Given the description of an element on the screen output the (x, y) to click on. 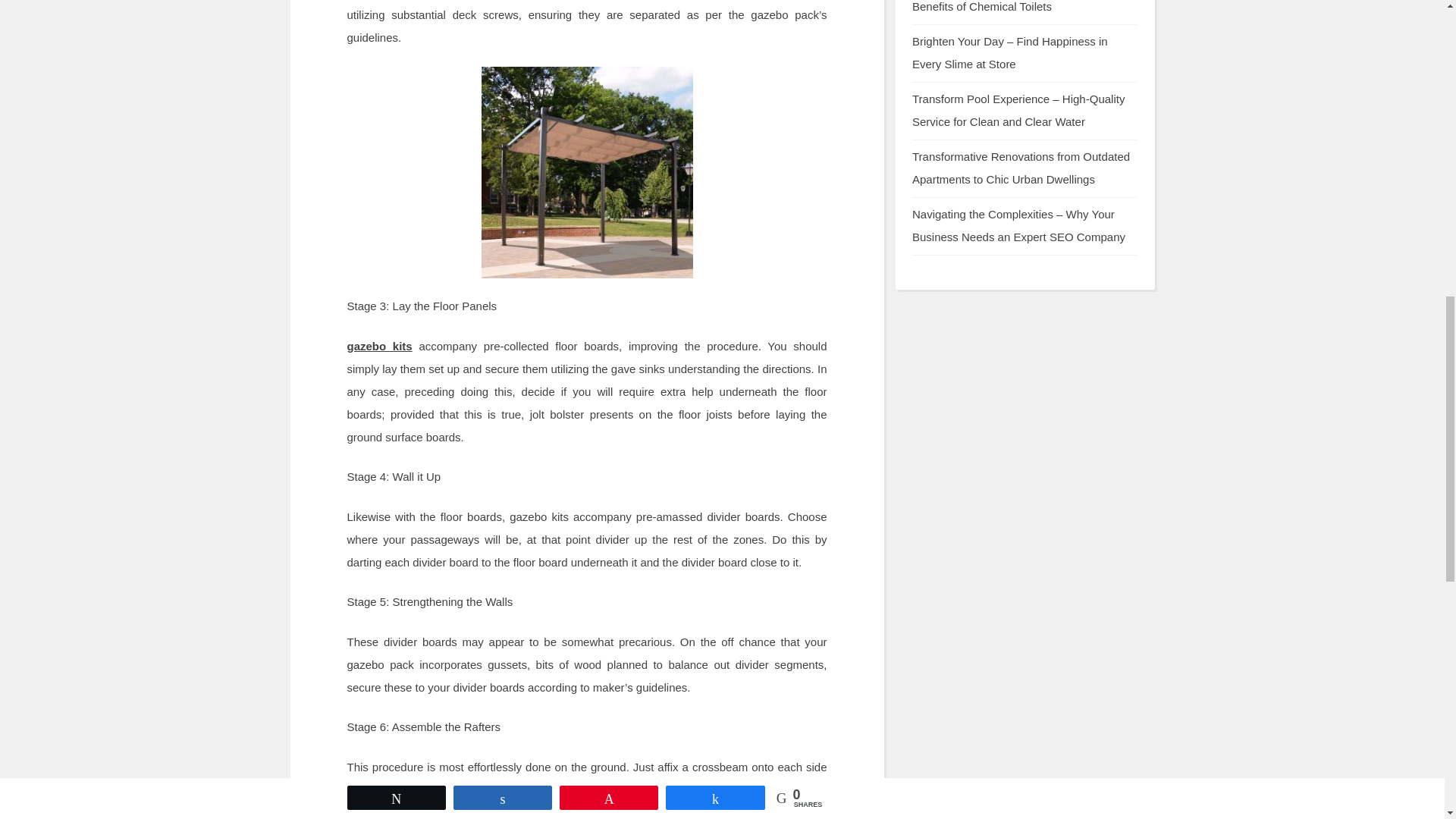
gazebo kits (379, 345)
